Given the description of an element on the screen output the (x, y) to click on. 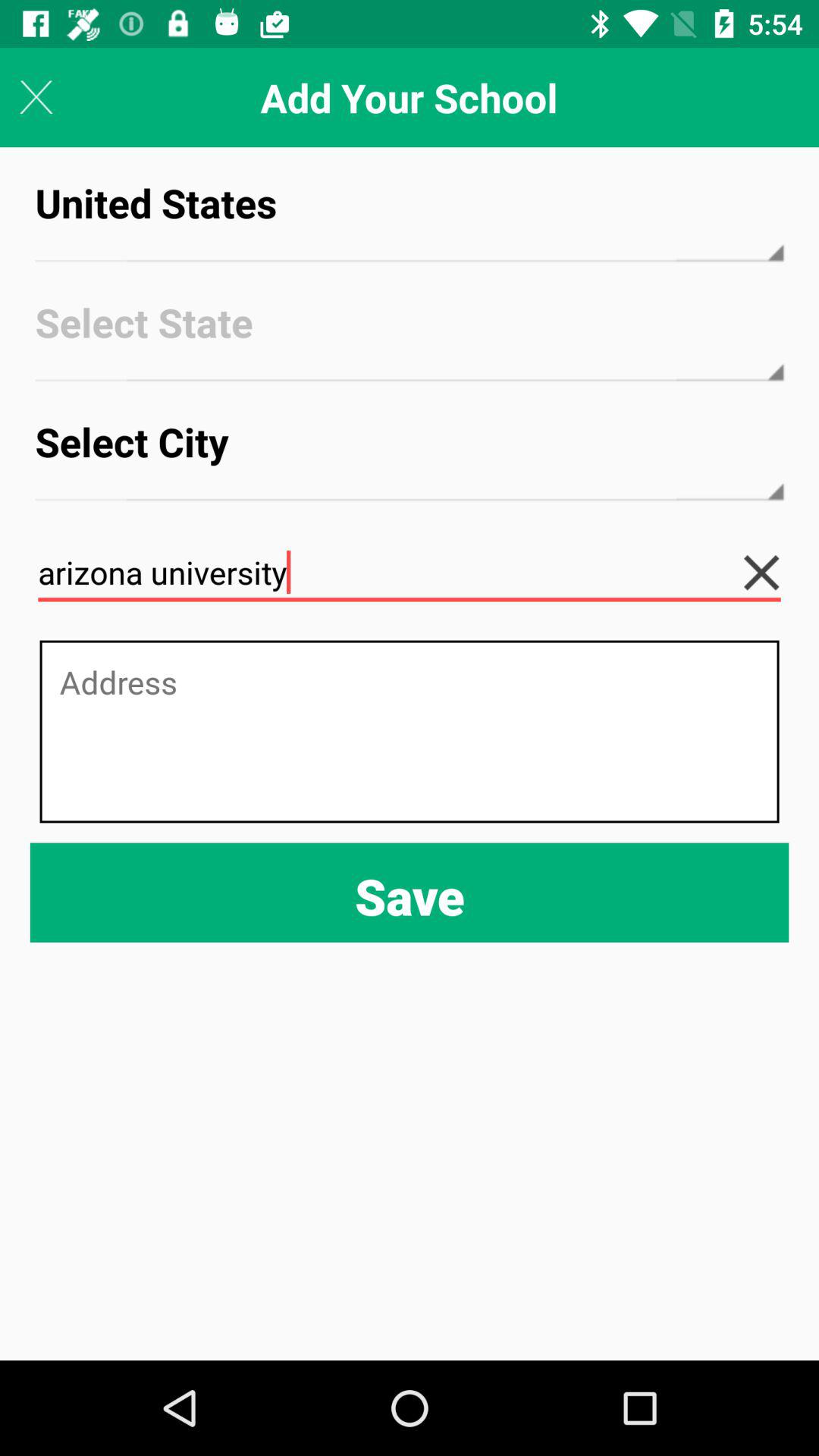
scroll until the select city item (409, 455)
